Given the description of an element on the screen output the (x, y) to click on. 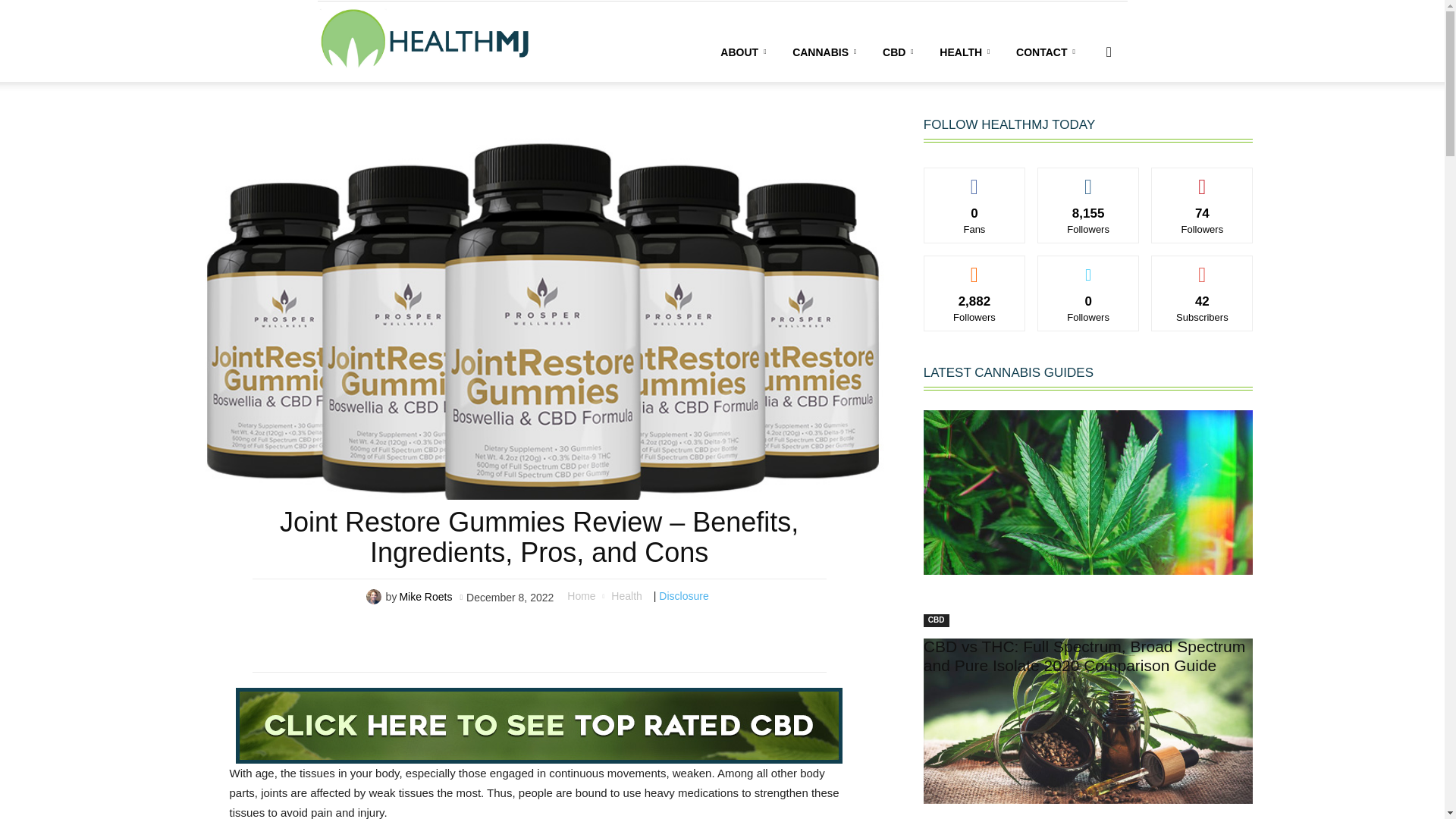
View all posts in Health (626, 595)
